Given the description of an element on the screen output the (x, y) to click on. 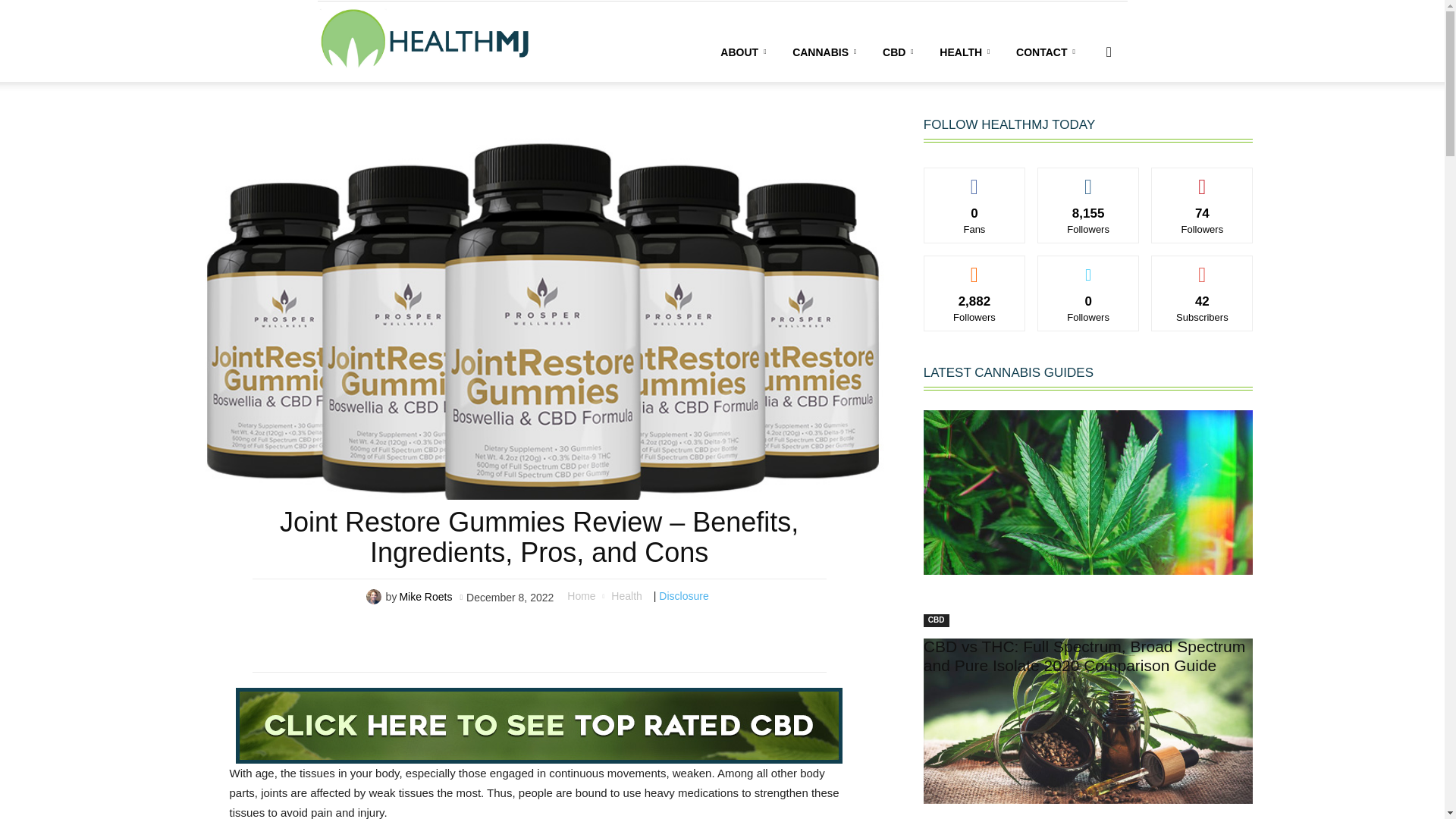
View all posts in Health (626, 595)
